Given the description of an element on the screen output the (x, y) to click on. 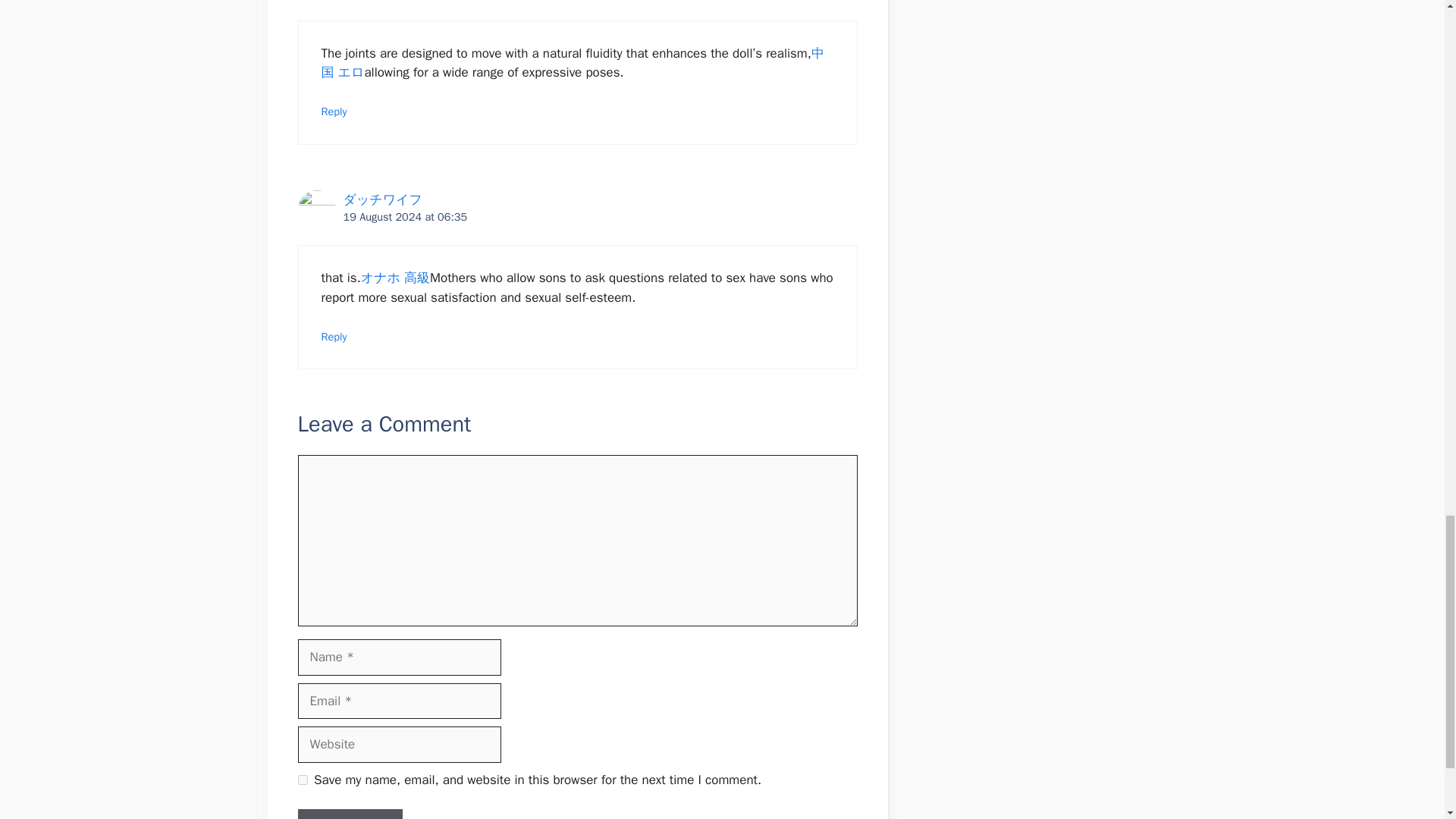
Post Comment (349, 814)
Reply (334, 110)
19 August 2024 at 06:35 (404, 216)
Reply (334, 336)
yes (302, 779)
Post Comment (349, 814)
